Given the description of an element on the screen output the (x, y) to click on. 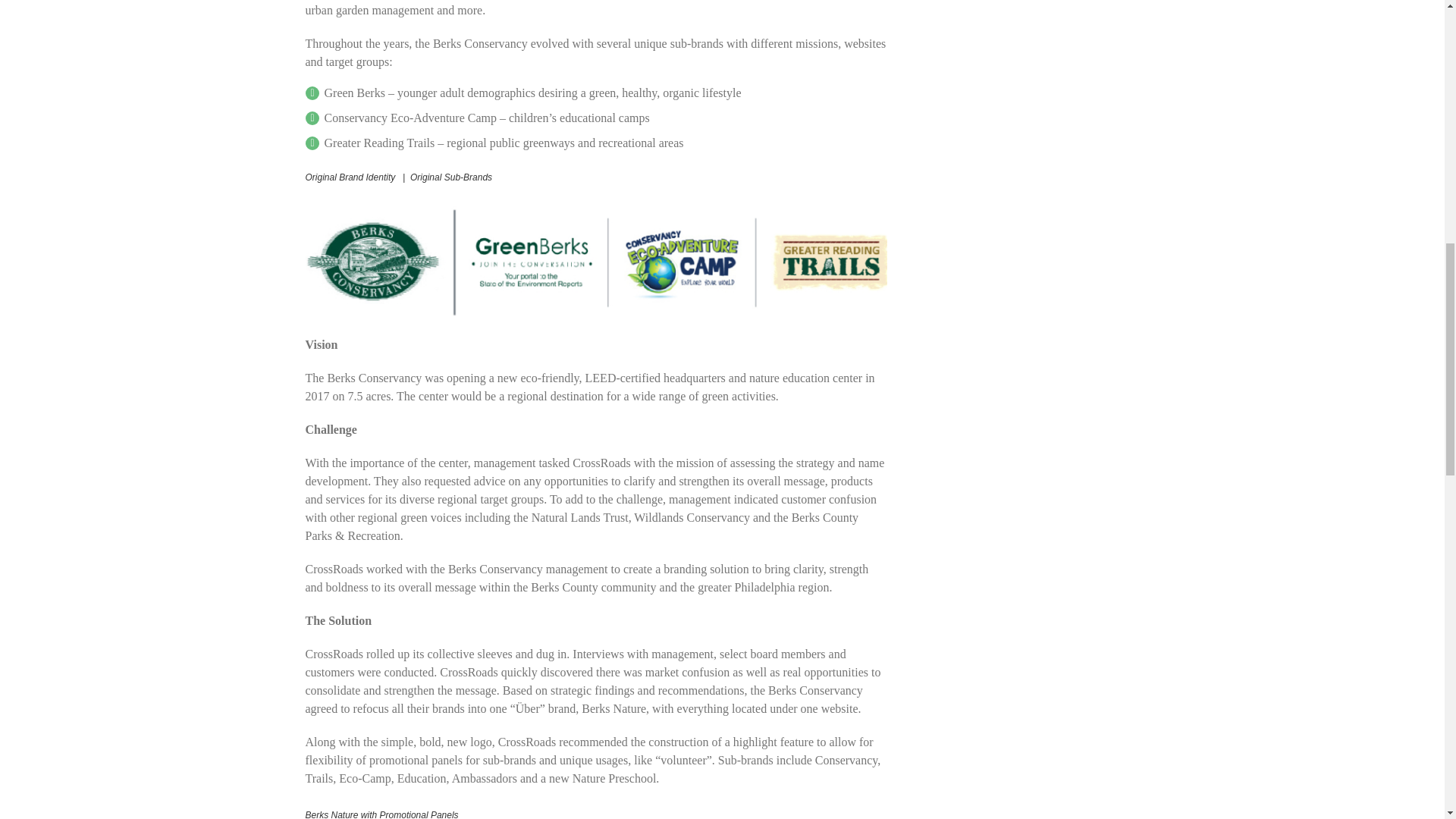
Berks Nature Previous Brand CS (595, 263)
